Given the description of an element on the screen output the (x, y) to click on. 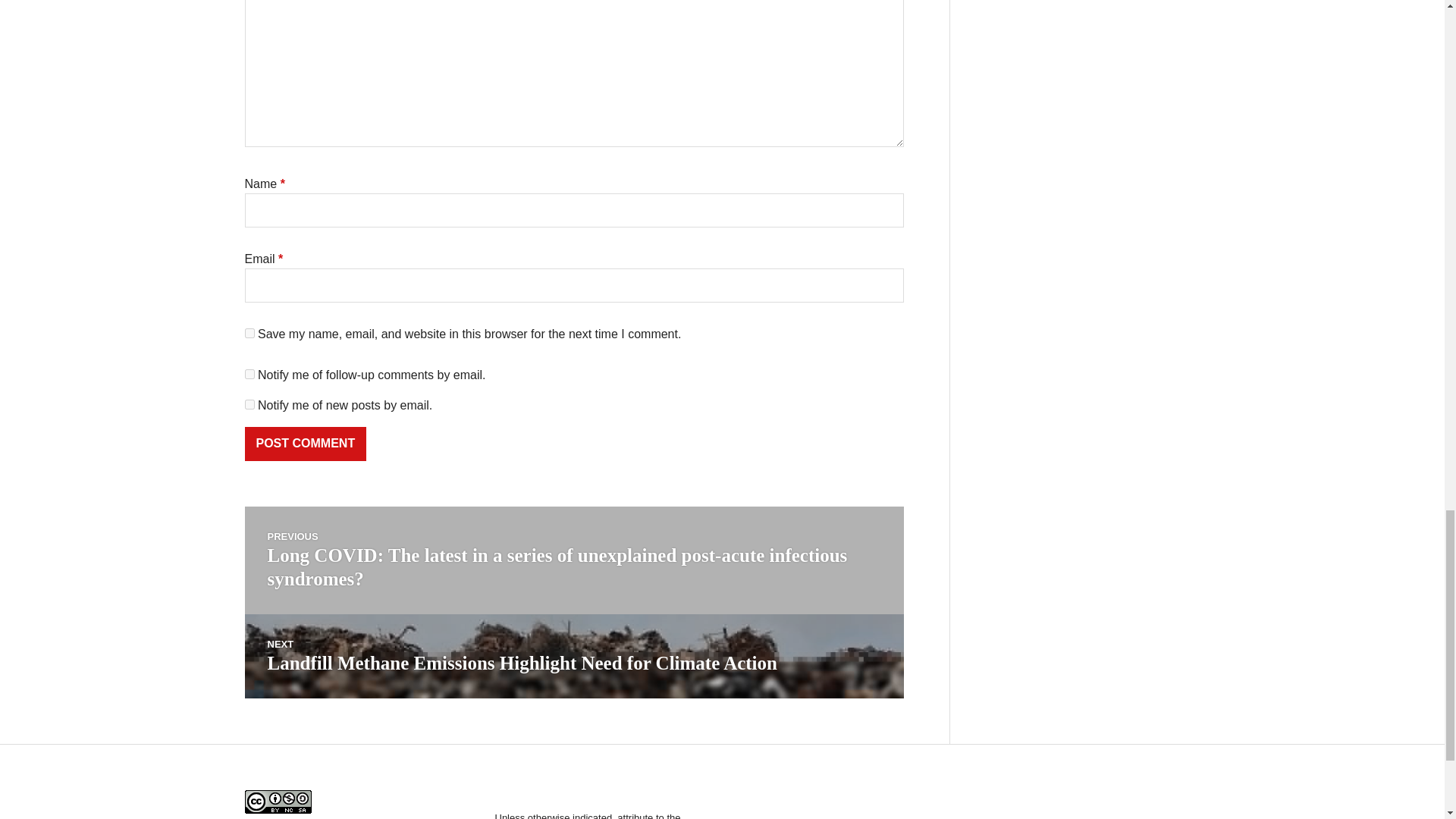
subscribe (248, 404)
yes (248, 333)
Post Comment (305, 443)
subscribe (248, 374)
